Given the description of an element on the screen output the (x, y) to click on. 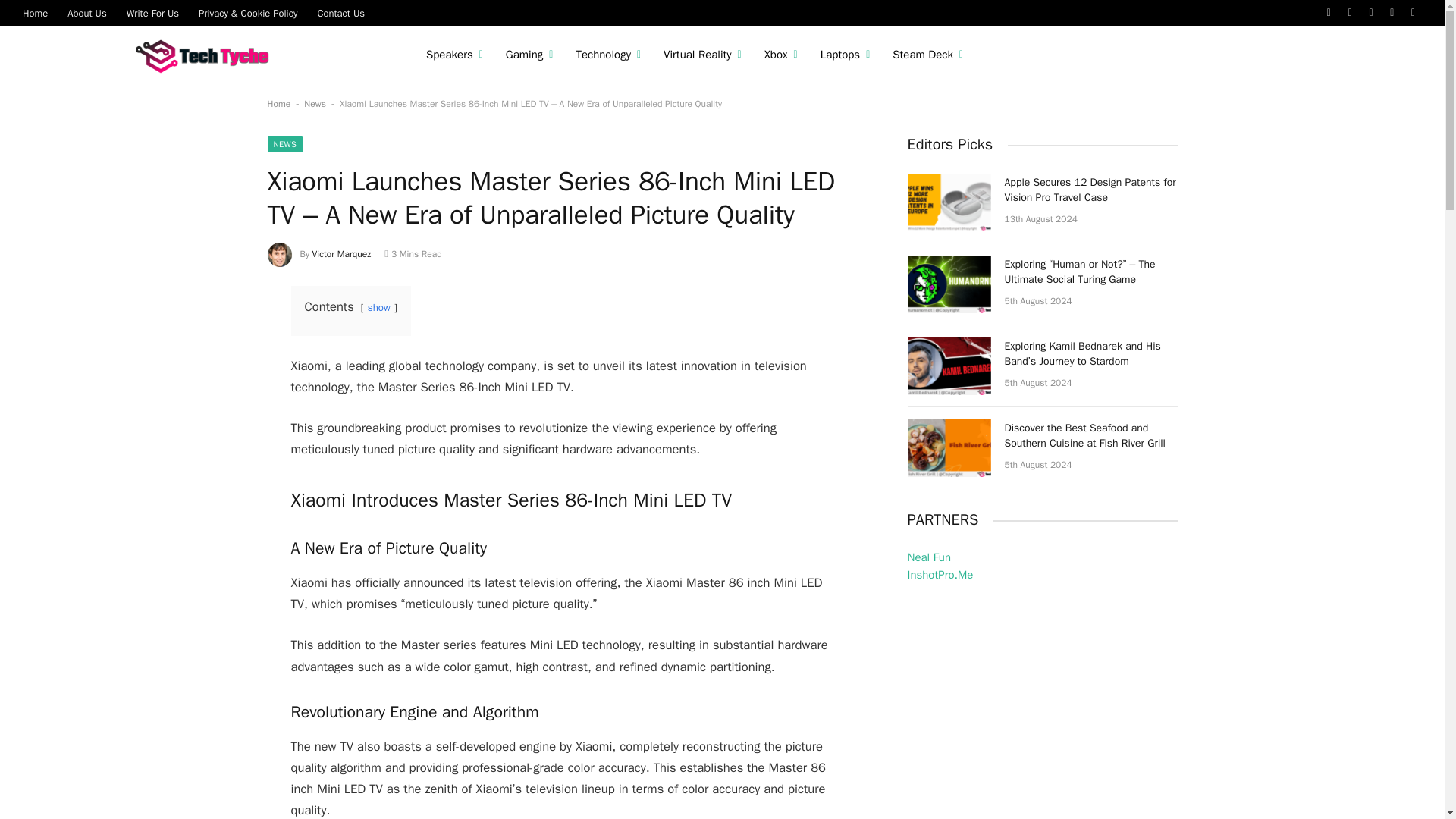
About Us (87, 12)
Techtyche (205, 54)
Write For Us (152, 12)
Speakers (454, 54)
Gaming (529, 54)
Posts by Victor Marquez (342, 254)
Contact Us (340, 12)
Home (35, 12)
